Given the description of an element on the screen output the (x, y) to click on. 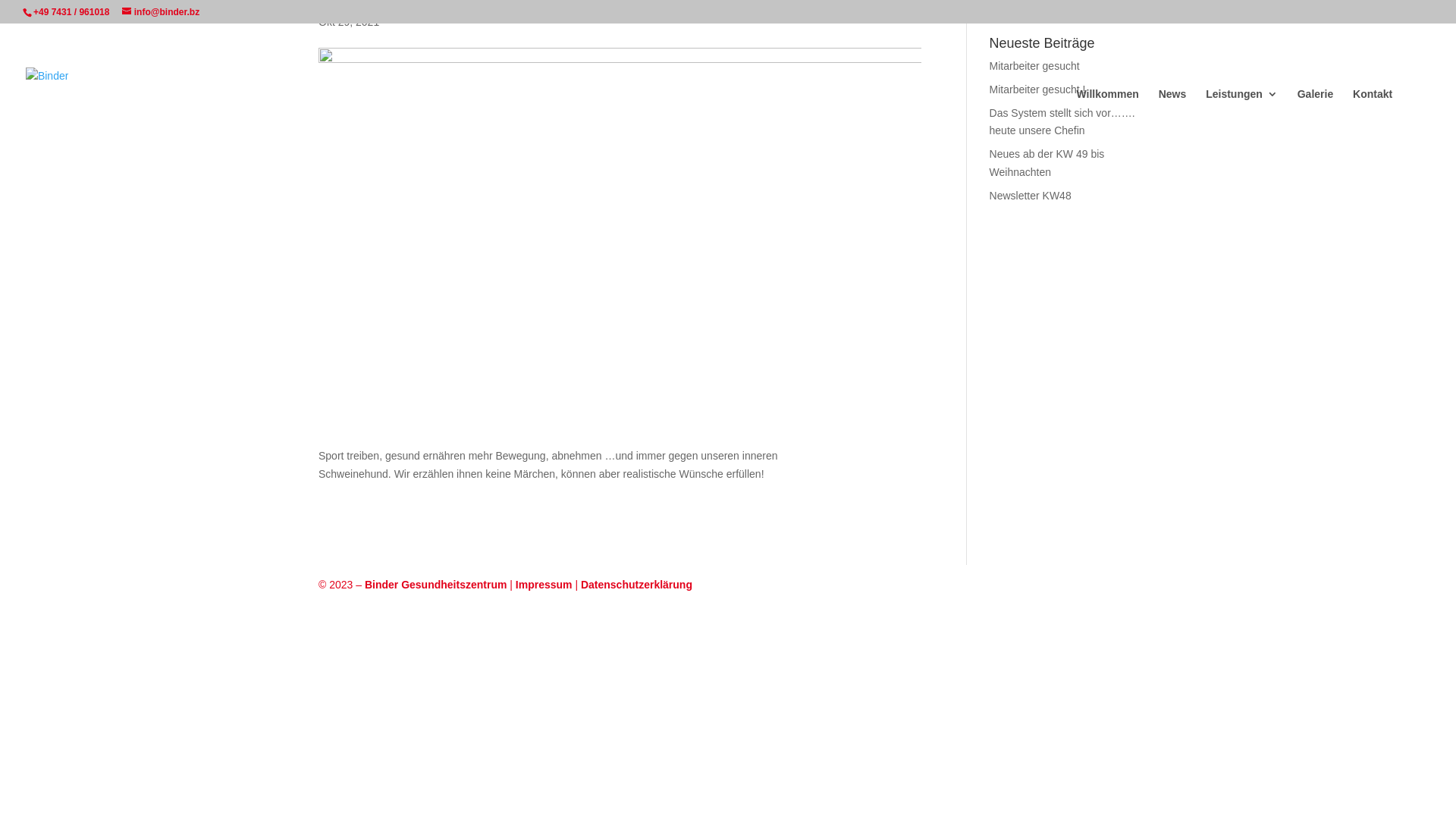
Kontakt Element type: text (1372, 106)
Mitarbeiter gesucht Element type: text (1034, 65)
Willkommen Element type: text (1107, 106)
Leistungen Element type: text (1241, 106)
News Element type: text (1172, 106)
Impressum Element type: text (543, 584)
Neues ab der KW 49 bis Weihnachten Element type: text (1046, 162)
Binder Gesundheitszentrum Element type: text (435, 584)
Galerie Element type: text (1315, 106)
Newsletter KW48 Element type: text (1030, 195)
Mitarbeiter gesucht ! Element type: text (1037, 89)
info@binder.bz Element type: text (160, 11)
